Given the description of an element on the screen output the (x, y) to click on. 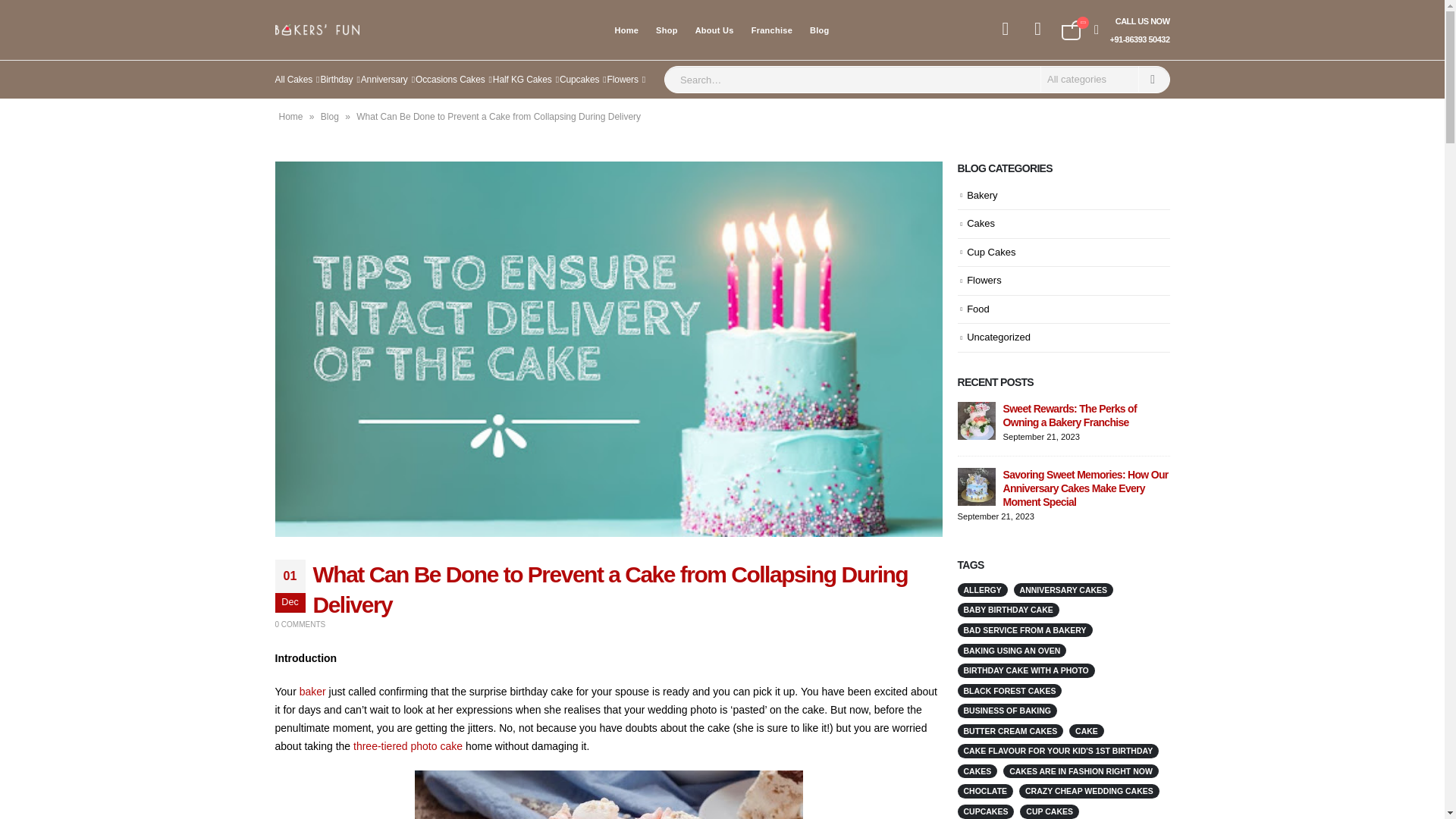
baker (312, 691)
About Us (714, 29)
0 COMMENTS (299, 623)
Home (626, 29)
Blog (329, 116)
Bakersfun -  (316, 29)
Anniversary (387, 79)
My Account (1005, 28)
All Cakes (296, 79)
Half KG Cakes (526, 79)
Cupcakes (583, 79)
Home (290, 116)
Birthday (339, 79)
Search (1153, 79)
three-tiered photo cake (408, 746)
